Given the description of an element on the screen output the (x, y) to click on. 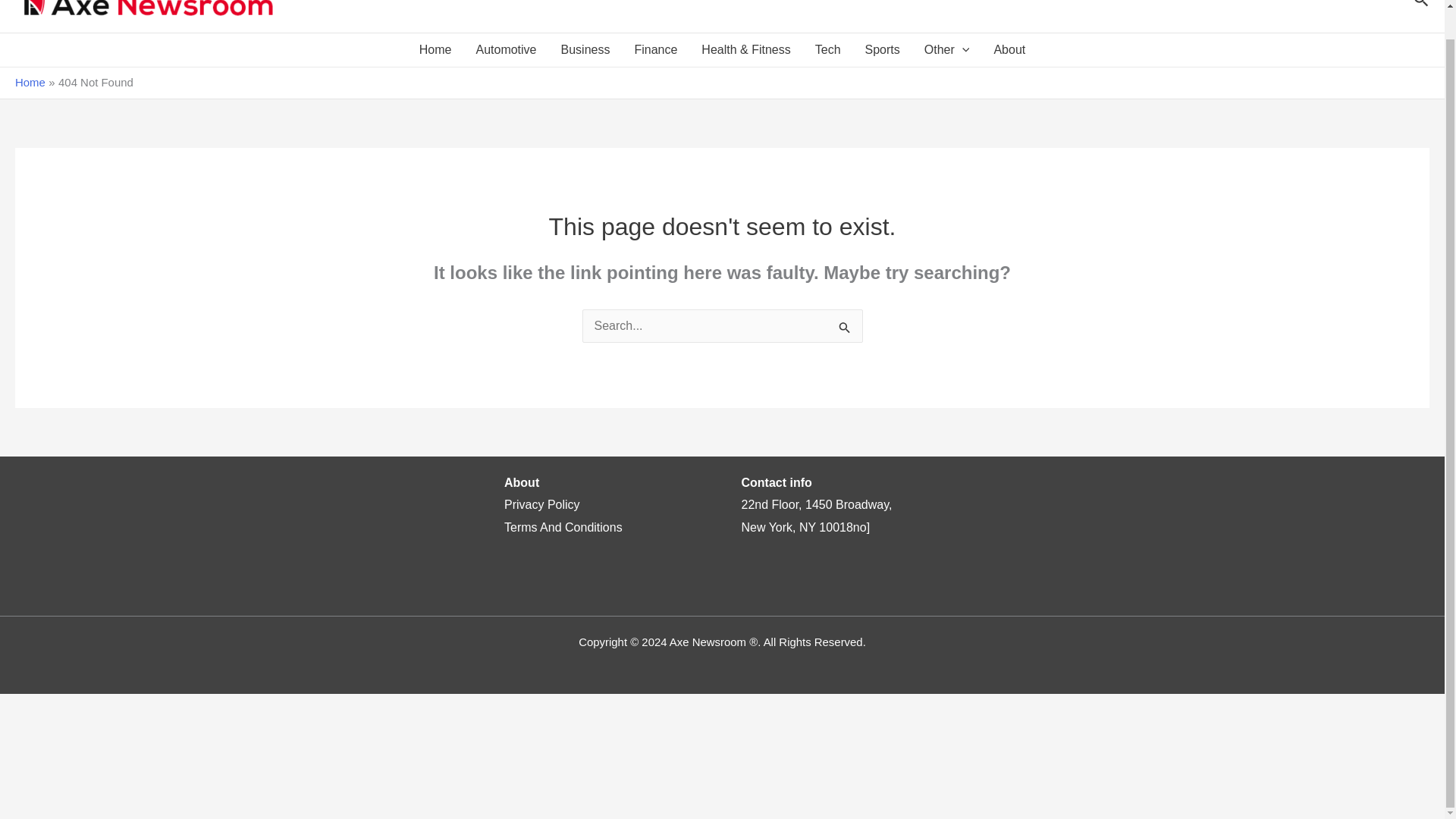
Other (946, 49)
Business (585, 49)
Tech (828, 49)
Automotive (505, 49)
Finance (654, 49)
Sports (882, 49)
About (1008, 49)
Home (435, 49)
